Given the description of an element on the screen output the (x, y) to click on. 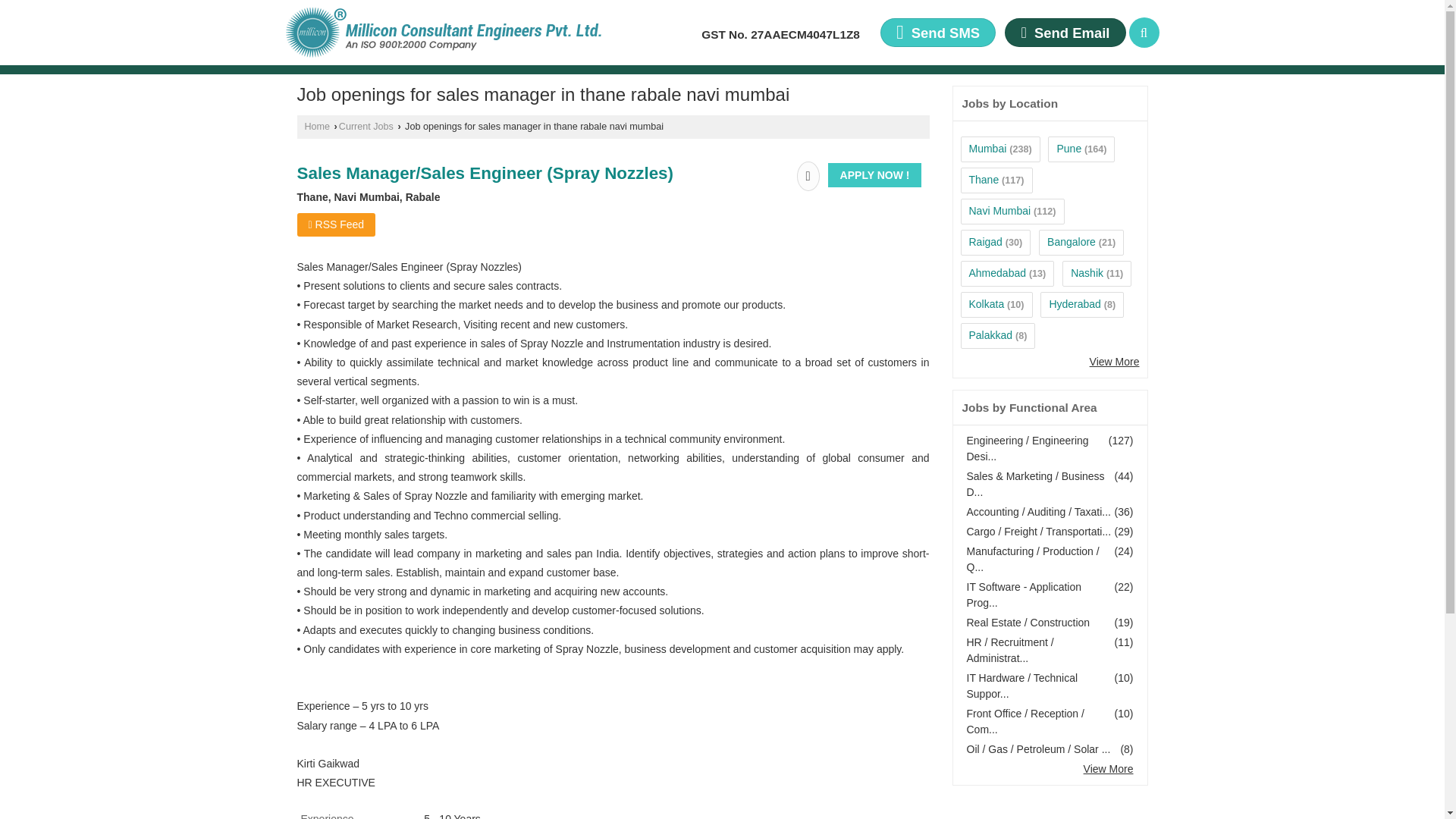
Search (1143, 32)
Current Jobs (366, 126)
Bangalore (1071, 241)
Millicon Consultant Engineers Pvt. Ltd. (442, 32)
Send Email (1064, 31)
Thane (983, 179)
Navi Mumbai (999, 210)
Current Jobs (366, 126)
RSS Feed (336, 224)
Home (317, 126)
